Given the description of an element on the screen output the (x, y) to click on. 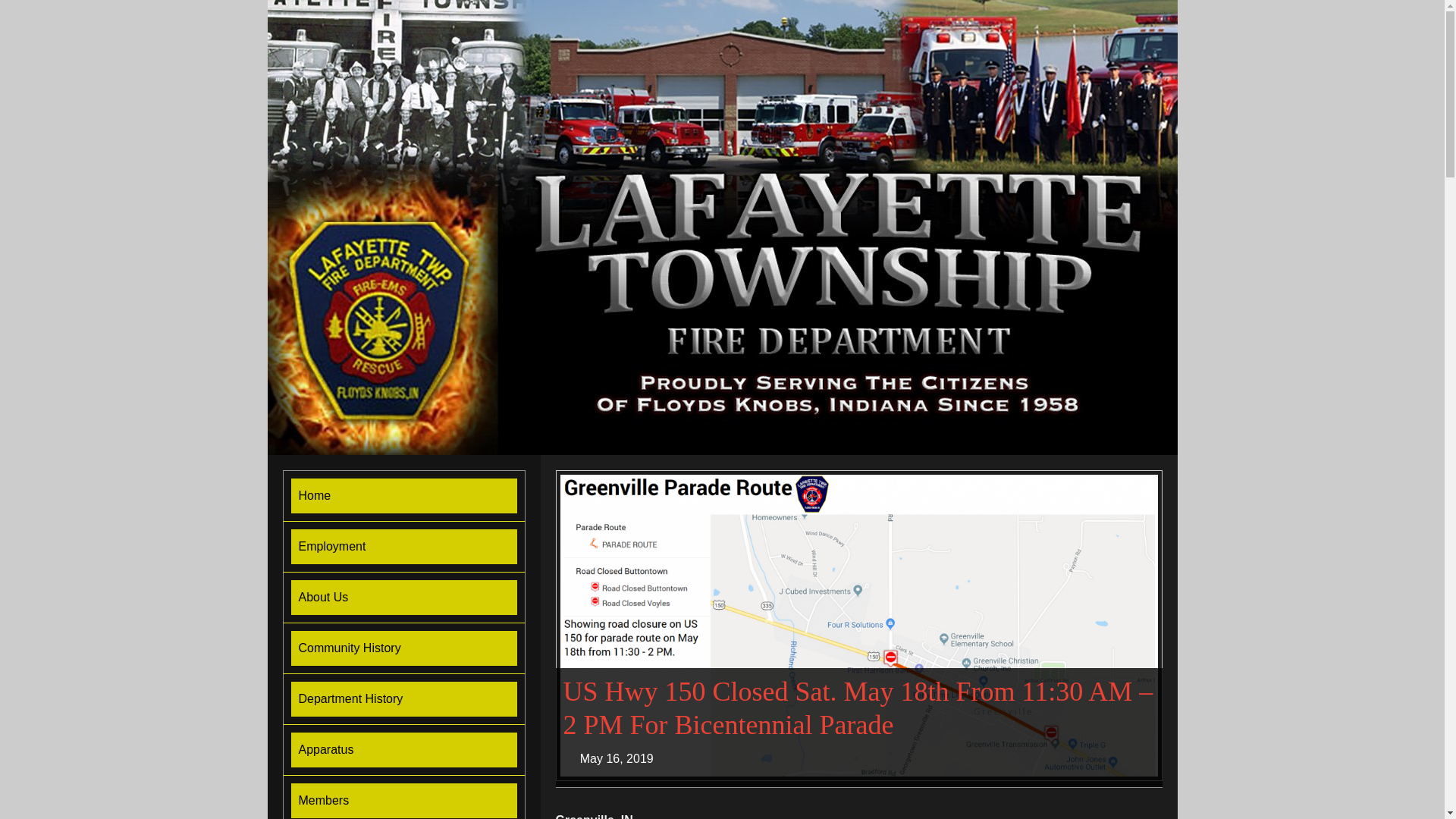
Home (403, 495)
Employment (403, 546)
About Us (403, 597)
Community History (403, 647)
Department History (403, 698)
Apparatus (403, 749)
Members (403, 800)
